Given the description of an element on the screen output the (x, y) to click on. 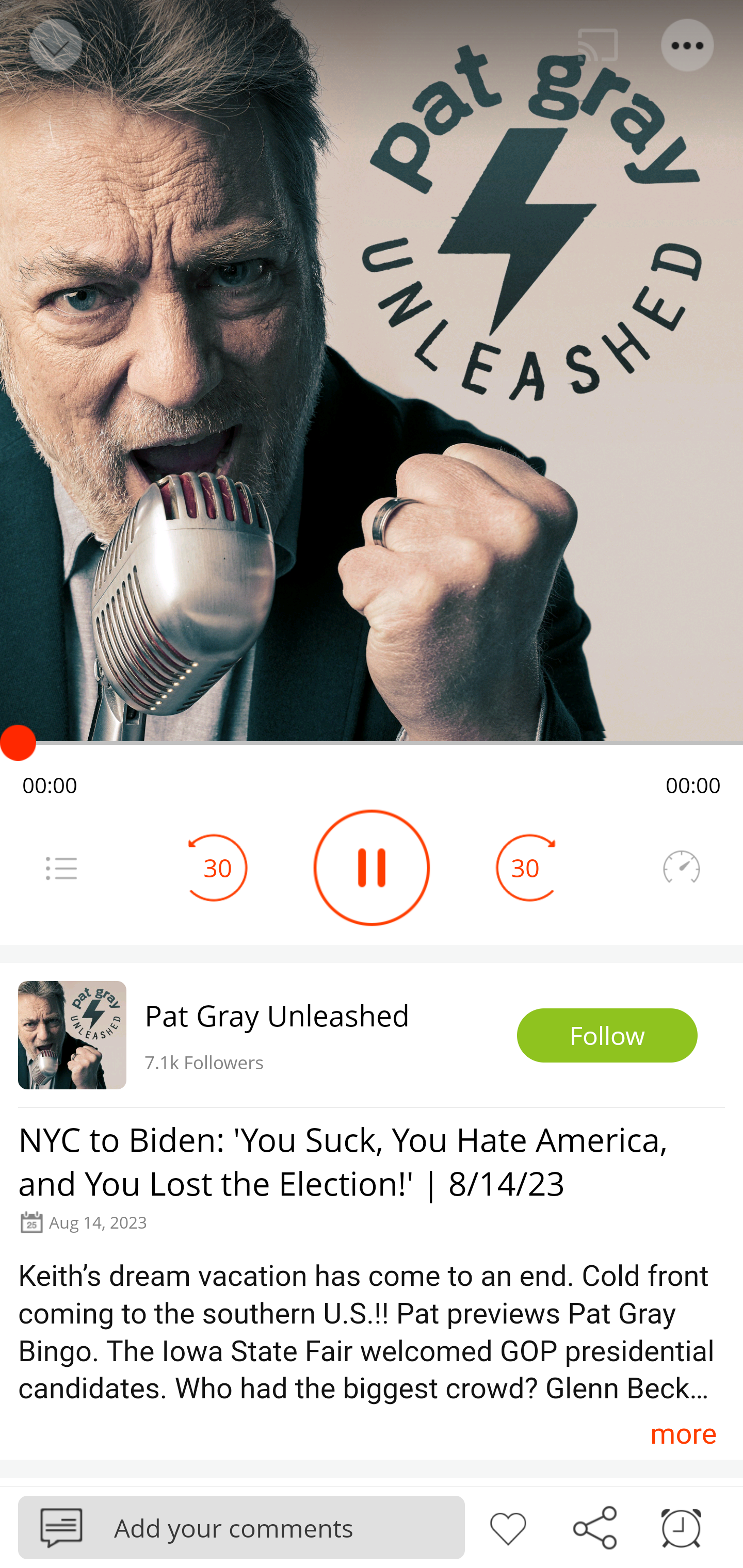
Back (53, 45)
Cast. Disconnected (597, 45)
Menu (688, 45)
Play (371, 867)
30 Seek Backward (217, 867)
30 Seek Forward (525, 867)
Menu (60, 867)
Speedometer (681, 867)
Pat Gray Unleashed 7.1k Followers Follow (371, 1034)
Follow (607, 1035)
more (682, 1432)
Like (508, 1526)
Share (594, 1526)
Sleep timer (681, 1526)
Podbean Add your comments (241, 1526)
